Given the description of an element on the screen output the (x, y) to click on. 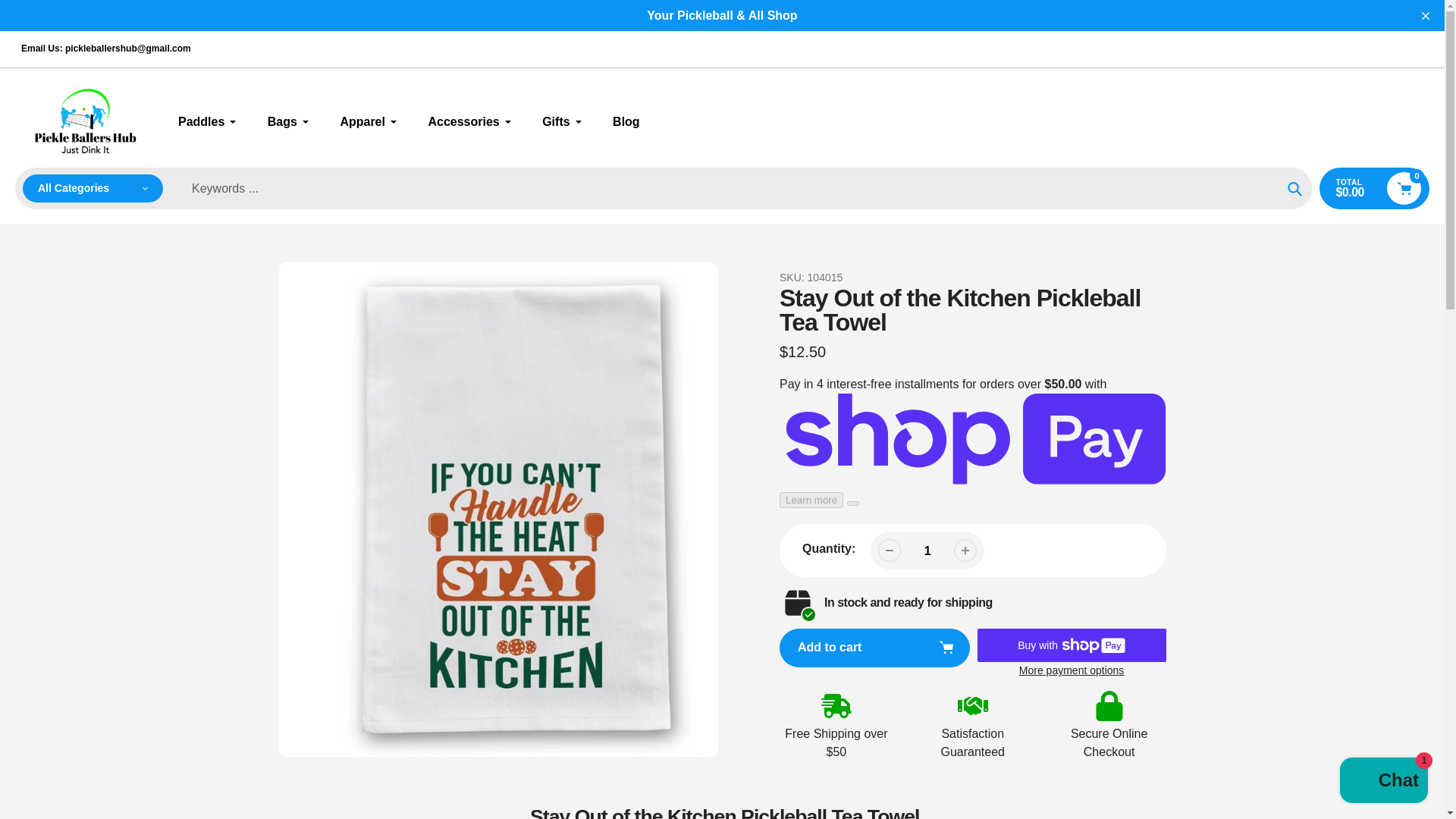
Bags (288, 122)
1 (927, 550)
Shopify online store chat (1383, 781)
Paddles (207, 122)
